Given the description of an element on the screen output the (x, y) to click on. 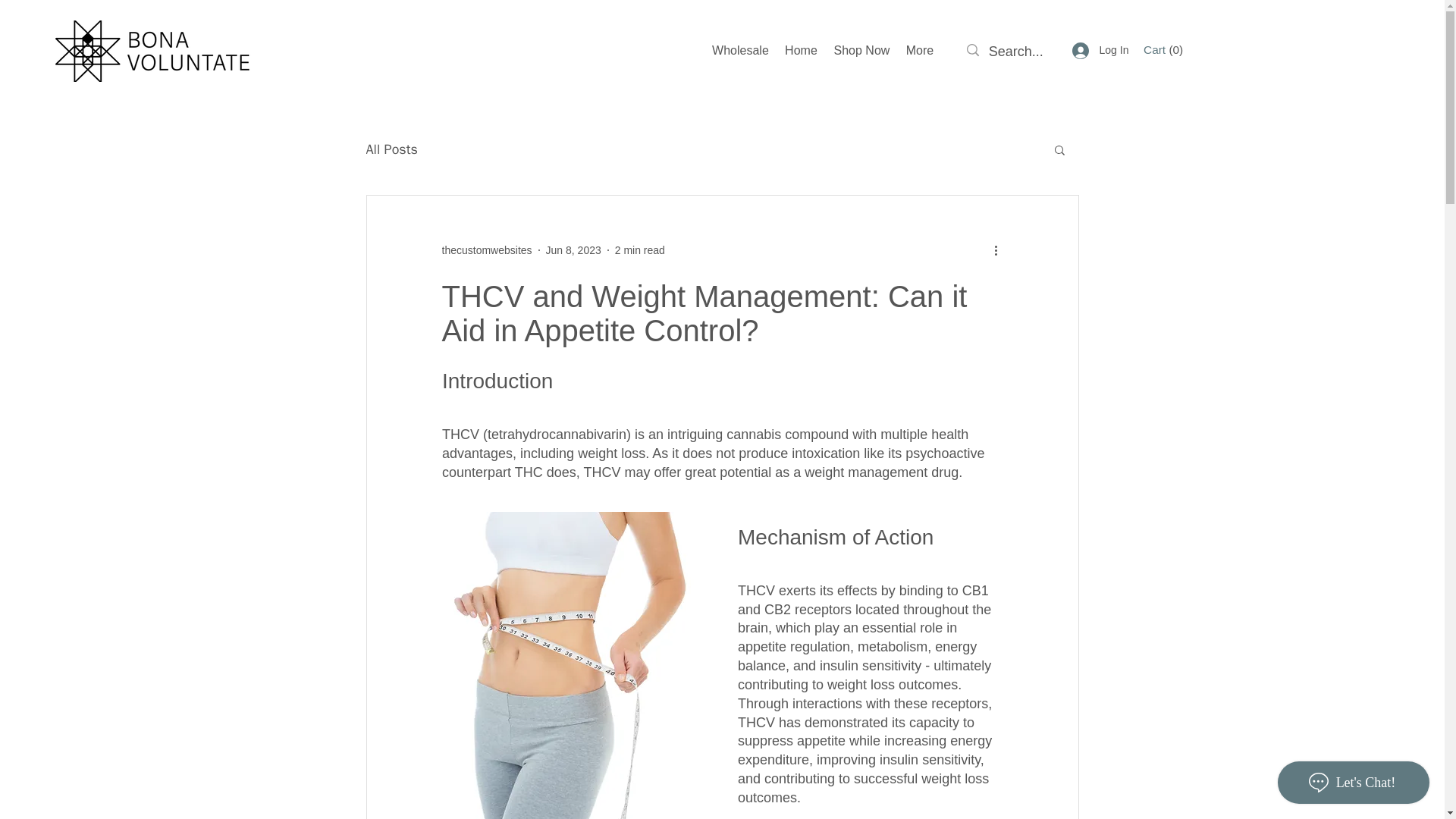
Jun 8, 2023 (573, 250)
thecustomwebsites (486, 250)
Home (800, 50)
Shop Now (861, 50)
All Posts (390, 149)
Wholesale (740, 50)
2 min read (639, 250)
Log In (1100, 50)
thecustomwebsites (486, 250)
